Given the description of an element on the screen output the (x, y) to click on. 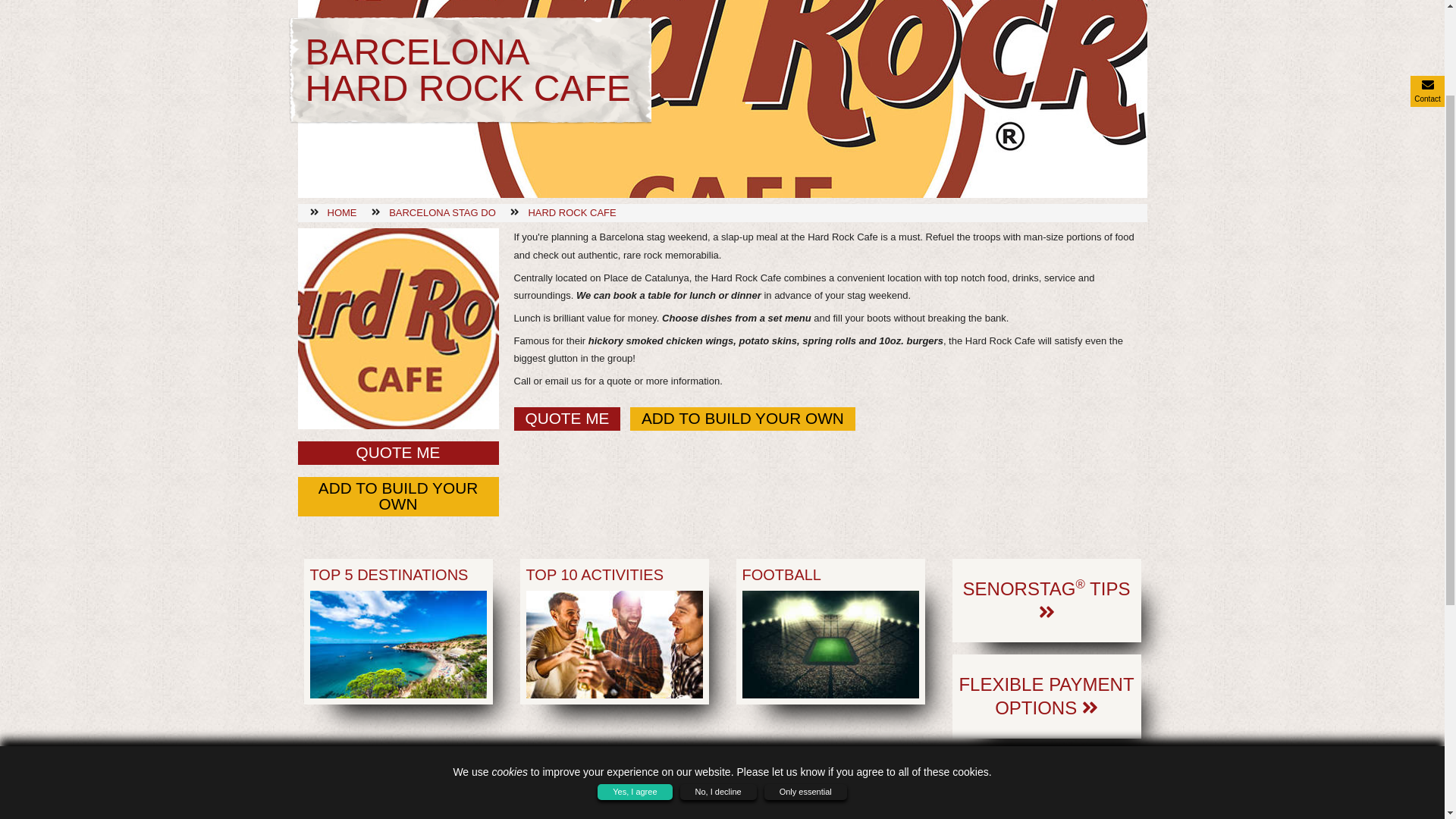
Destinations (324, 410)
FOOTBALL (829, 631)
FLEXIBLE PAYMENT OPTIONS (1046, 695)
Packages (318, 435)
BARCELONA STAG DO (442, 212)
HOME (341, 212)
TOP 10 ACTIVITIES (614, 631)
TOP 5 DESTINATIONS (397, 631)
Activities (316, 460)
HARD ROCK CAFE (571, 212)
